Given the description of an element on the screen output the (x, y) to click on. 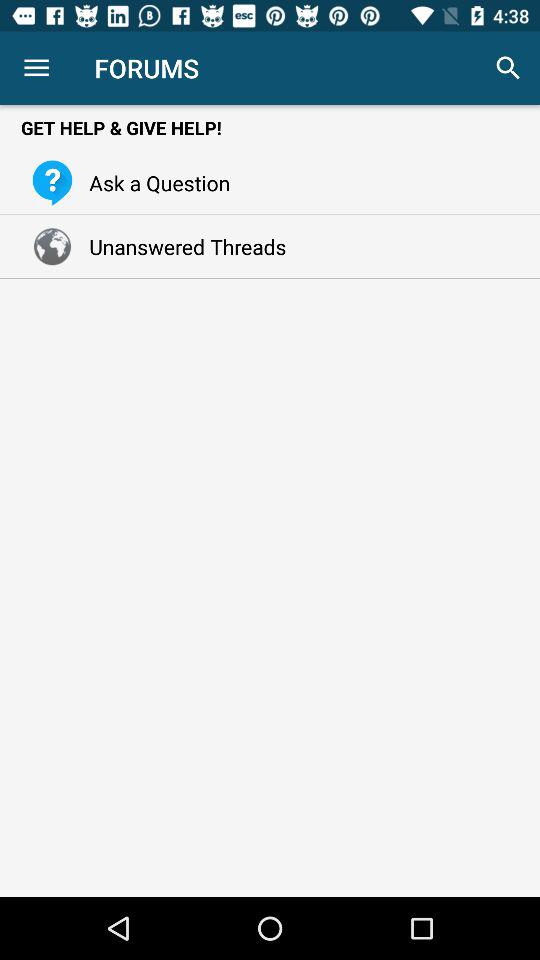
open item to the left of the forums icon (36, 68)
